Given the description of an element on the screen output the (x, y) to click on. 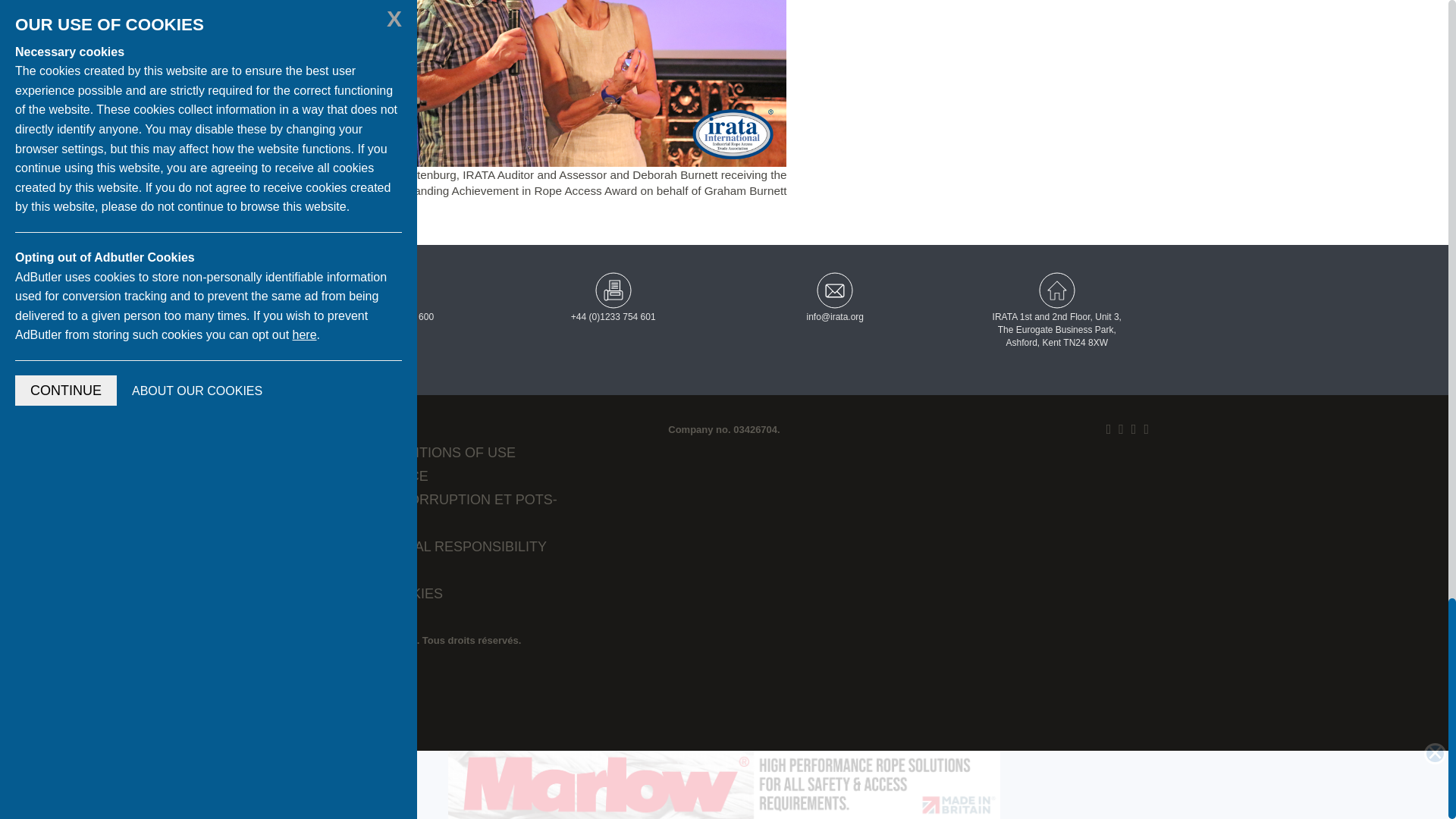
OUR USE OF COOKIES (367, 593)
POLITIQUE ANTICORRUPTION ET POTS-DE-VIN (424, 511)
TERMS AND CONDITIONS OF USE (403, 452)
PRIVACY NOTICE (349, 428)
COPYRIGHT NOTICE (360, 476)
